Given the description of an element on the screen output the (x, y) to click on. 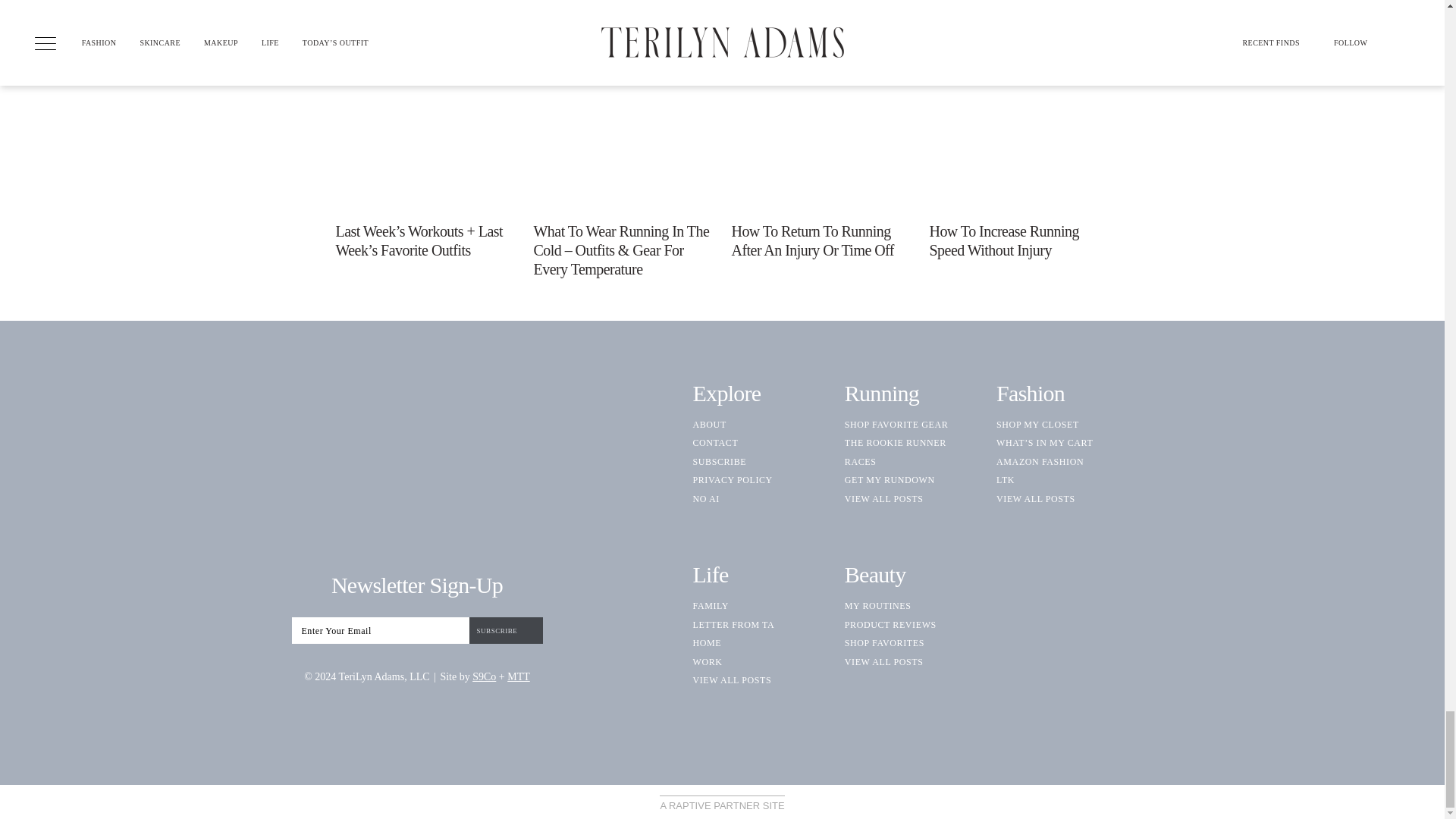
Subscribe (504, 630)
